Given the description of an element on the screen output the (x, y) to click on. 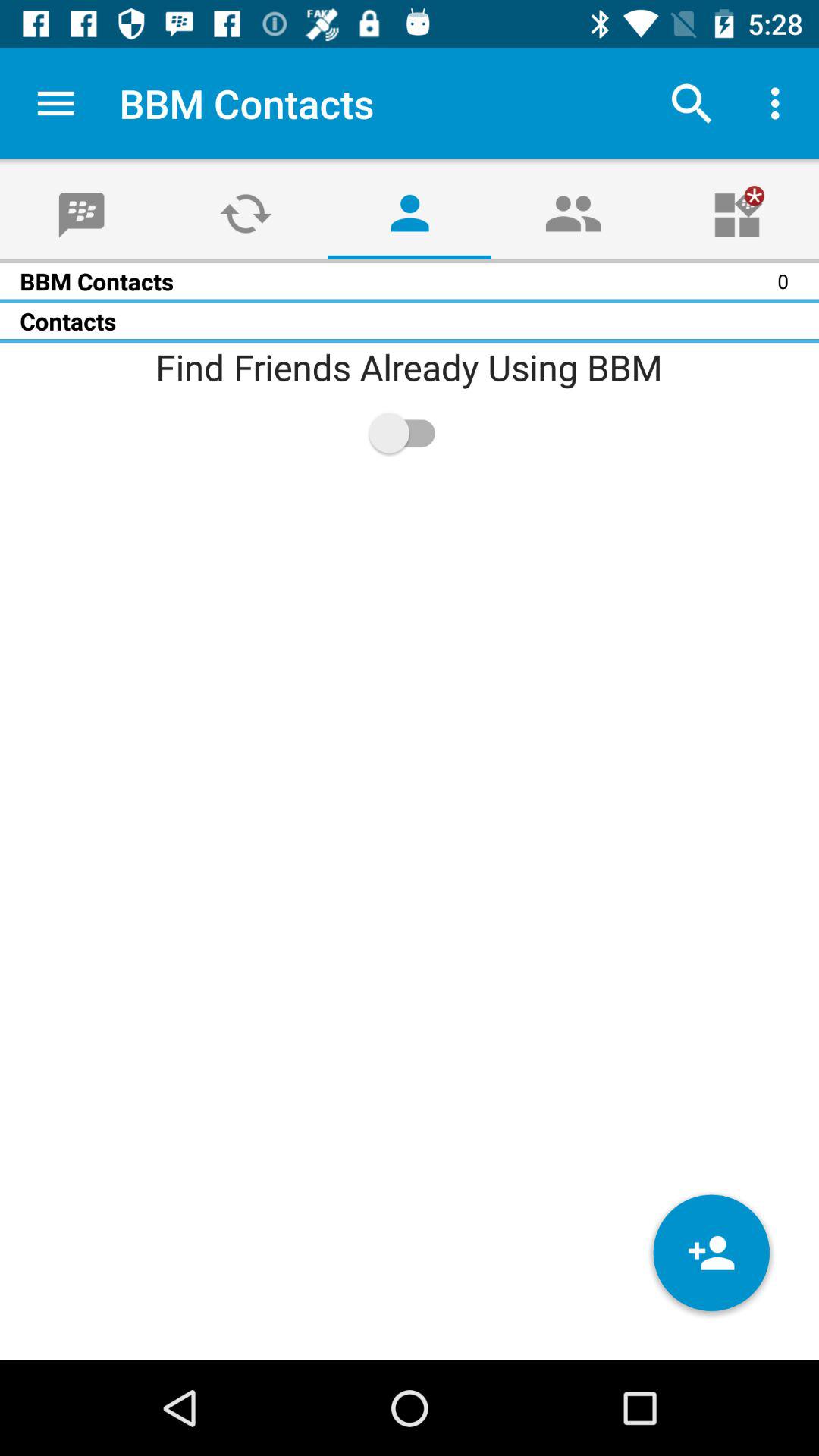
turn off the item next to the bbm contacts (55, 103)
